Given the description of an element on the screen output the (x, y) to click on. 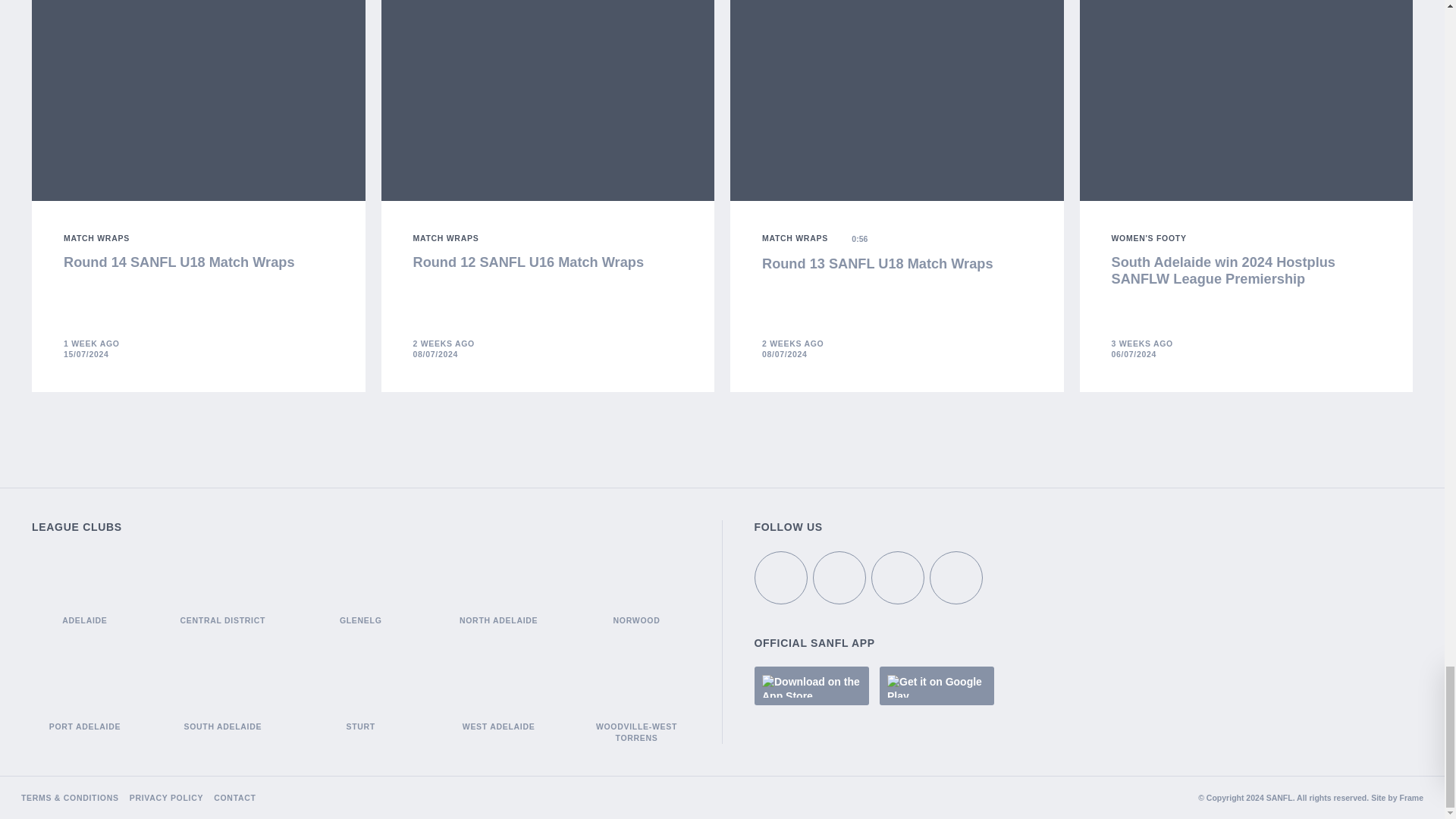
Website Design and Development by Frame Creative (1411, 797)
